Given the description of an element on the screen output the (x, y) to click on. 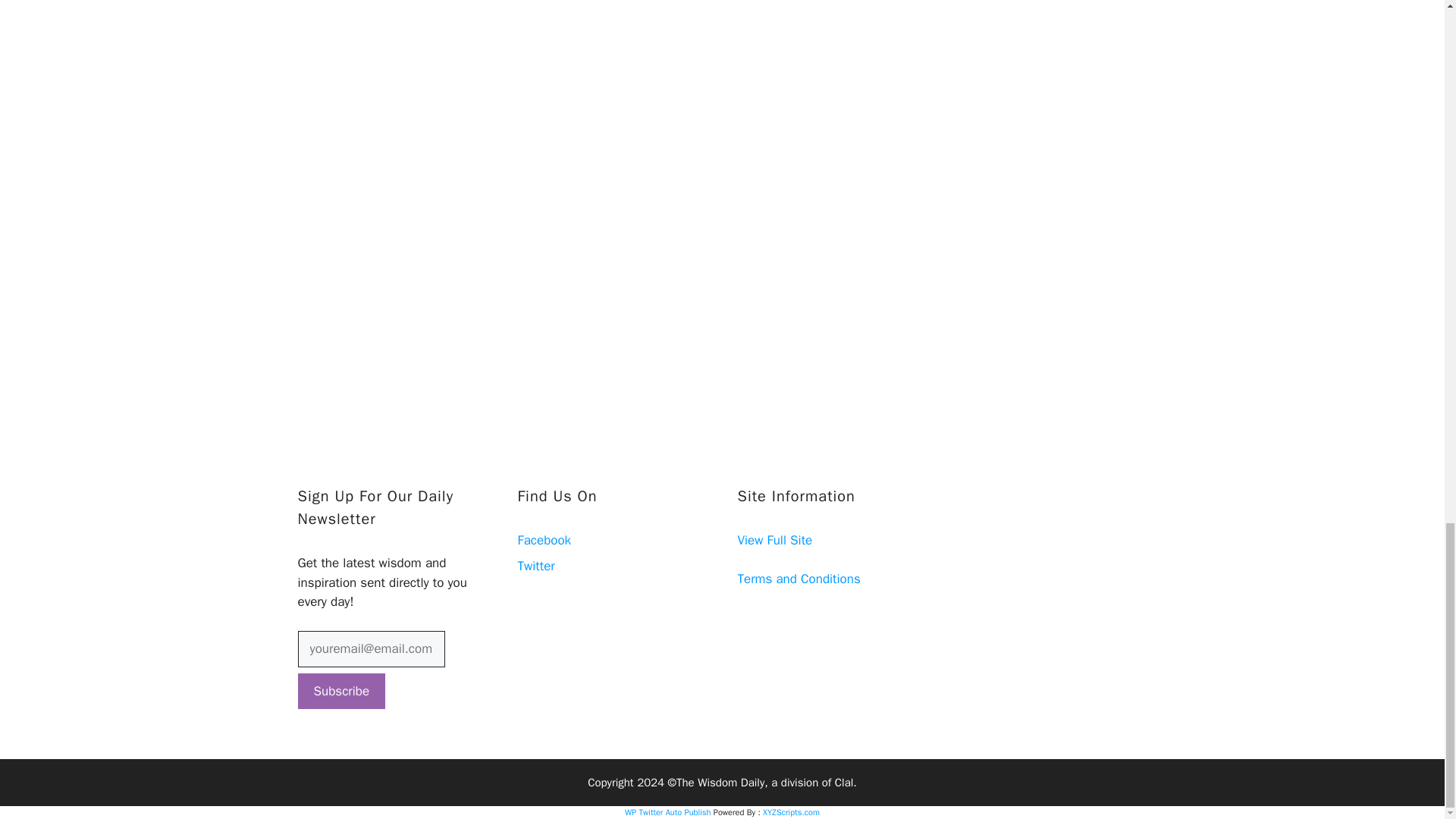
View Full Site (774, 539)
WP Twitter Auto Publish (667, 811)
Subscribe (341, 691)
Twitter (535, 565)
Terms and Conditions (798, 578)
Subscribe (341, 691)
Facebook (543, 539)
WP Twitter Auto Publish (667, 811)
XYZScripts.com (790, 811)
Scroll back to top (1406, 65)
